Given the description of an element on the screen output the (x, y) to click on. 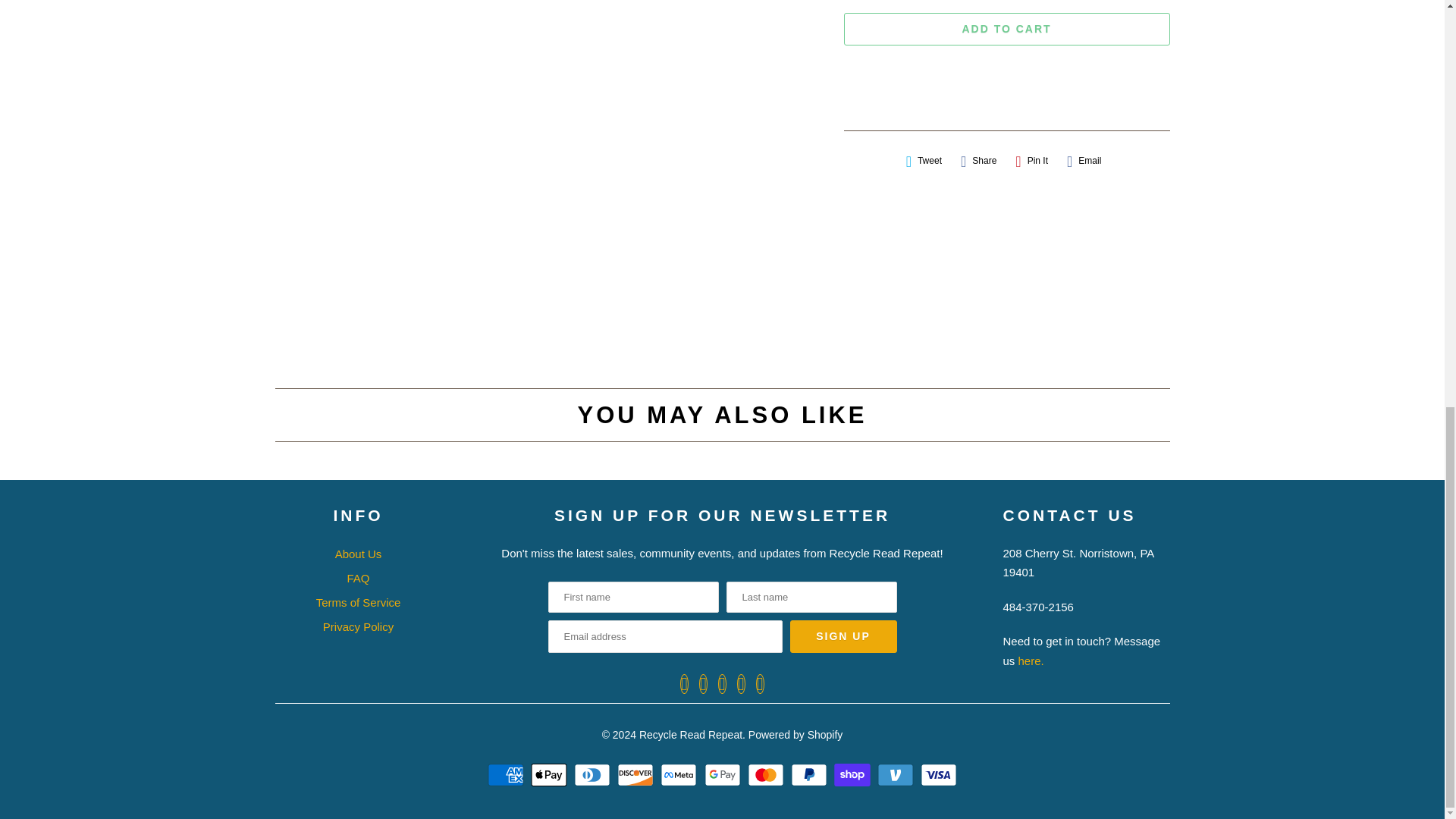
Visa (938, 774)
Mastercard (767, 774)
Meta Pay (680, 774)
Share this on Facebook (978, 160)
Discover (637, 774)
Shop Pay (854, 774)
Share this on Twitter (923, 160)
American Express (507, 774)
PayPal (810, 774)
Share this on Pinterest (1031, 160)
